Given the description of an element on the screen output the (x, y) to click on. 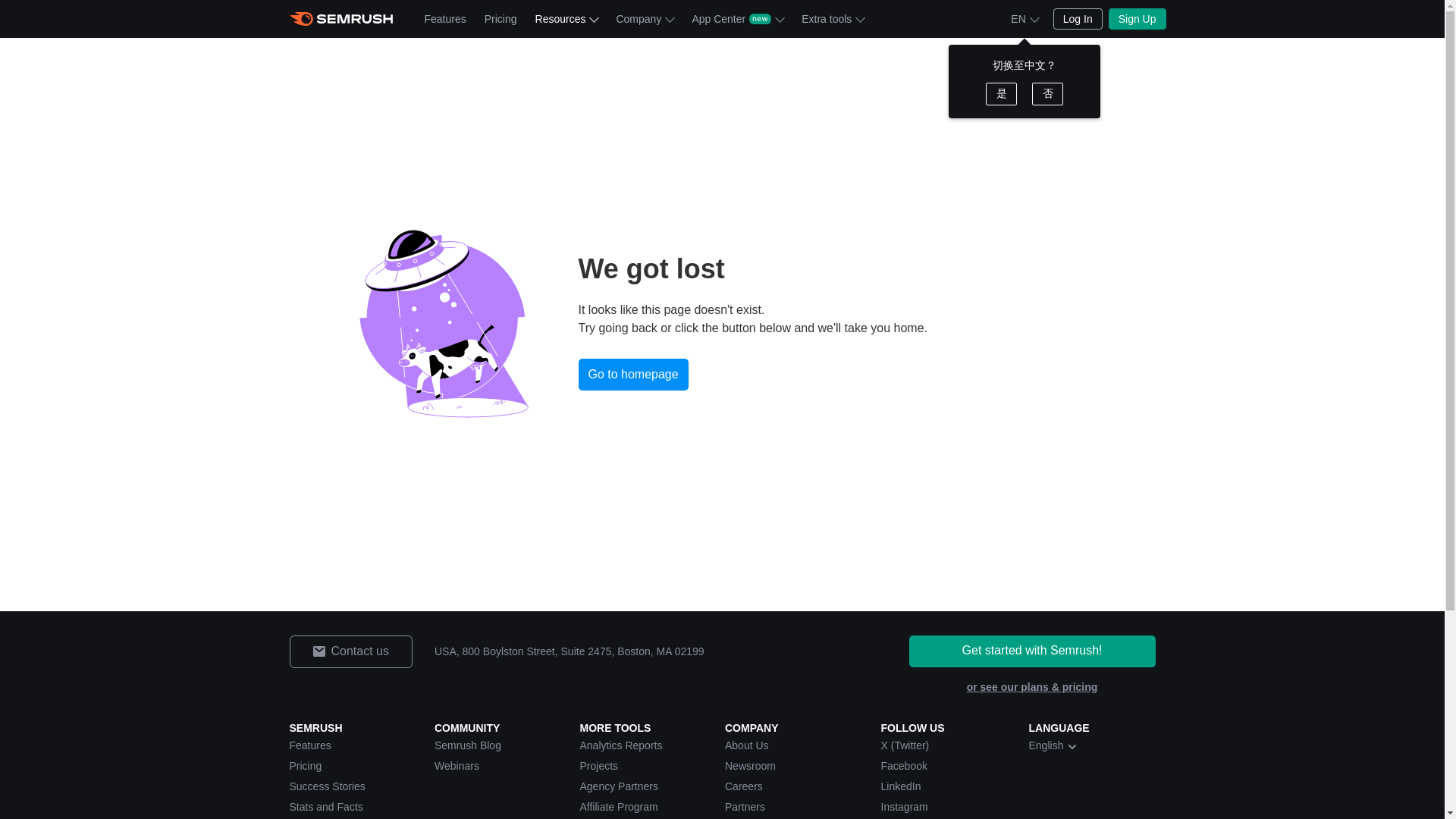
Extra tools (832, 18)
Resources (566, 18)
Pricing (500, 18)
App Center (737, 18)
Company (644, 18)
Features (445, 18)
